Given the description of an element on the screen output the (x, y) to click on. 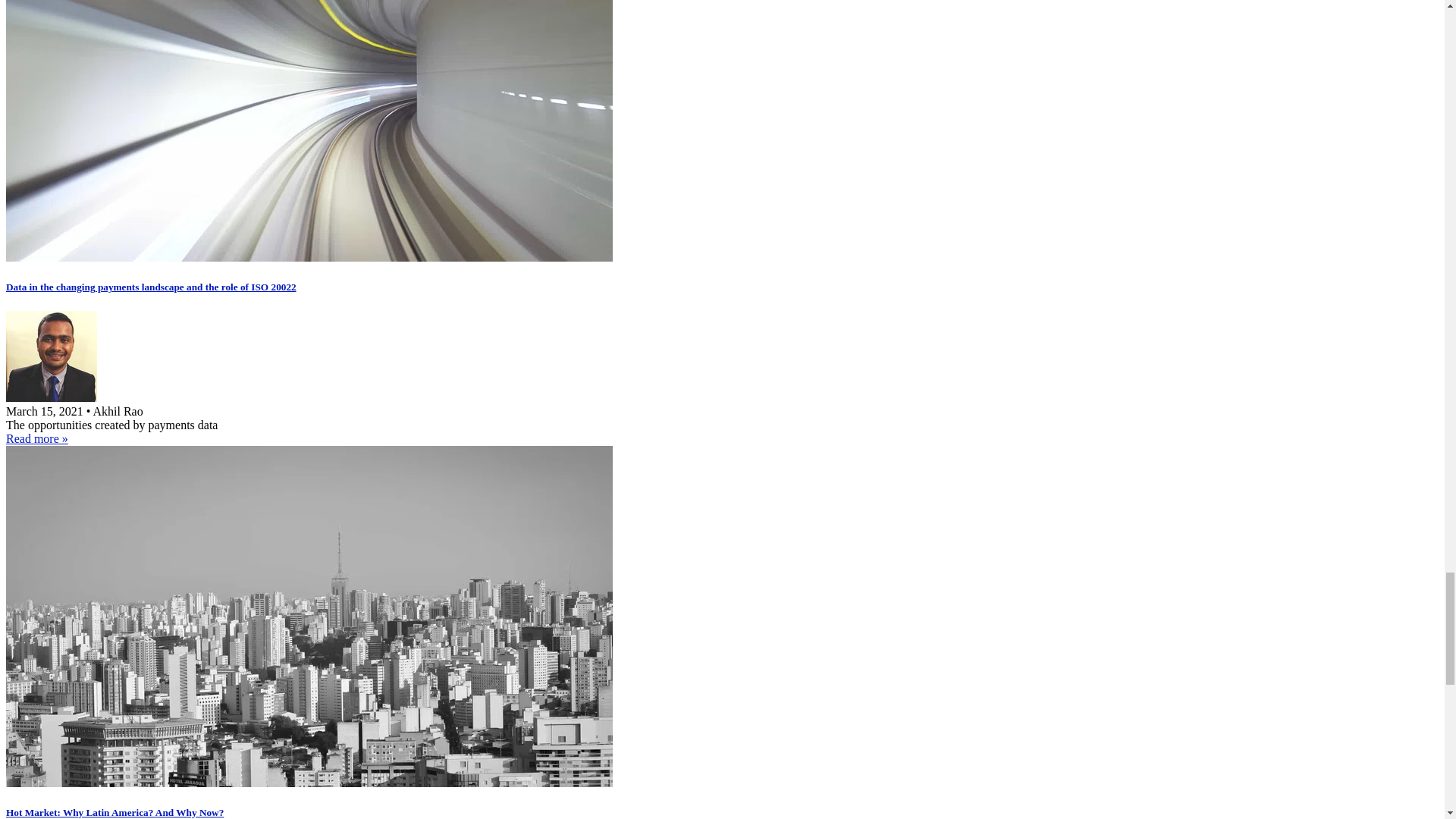
Akhil Rao (51, 397)
Hot Market: Why Latin America? And Why Now? (114, 812)
Hot Market: Why Latin America? And Why Now? (308, 782)
